Given the description of an element on the screen output the (x, y) to click on. 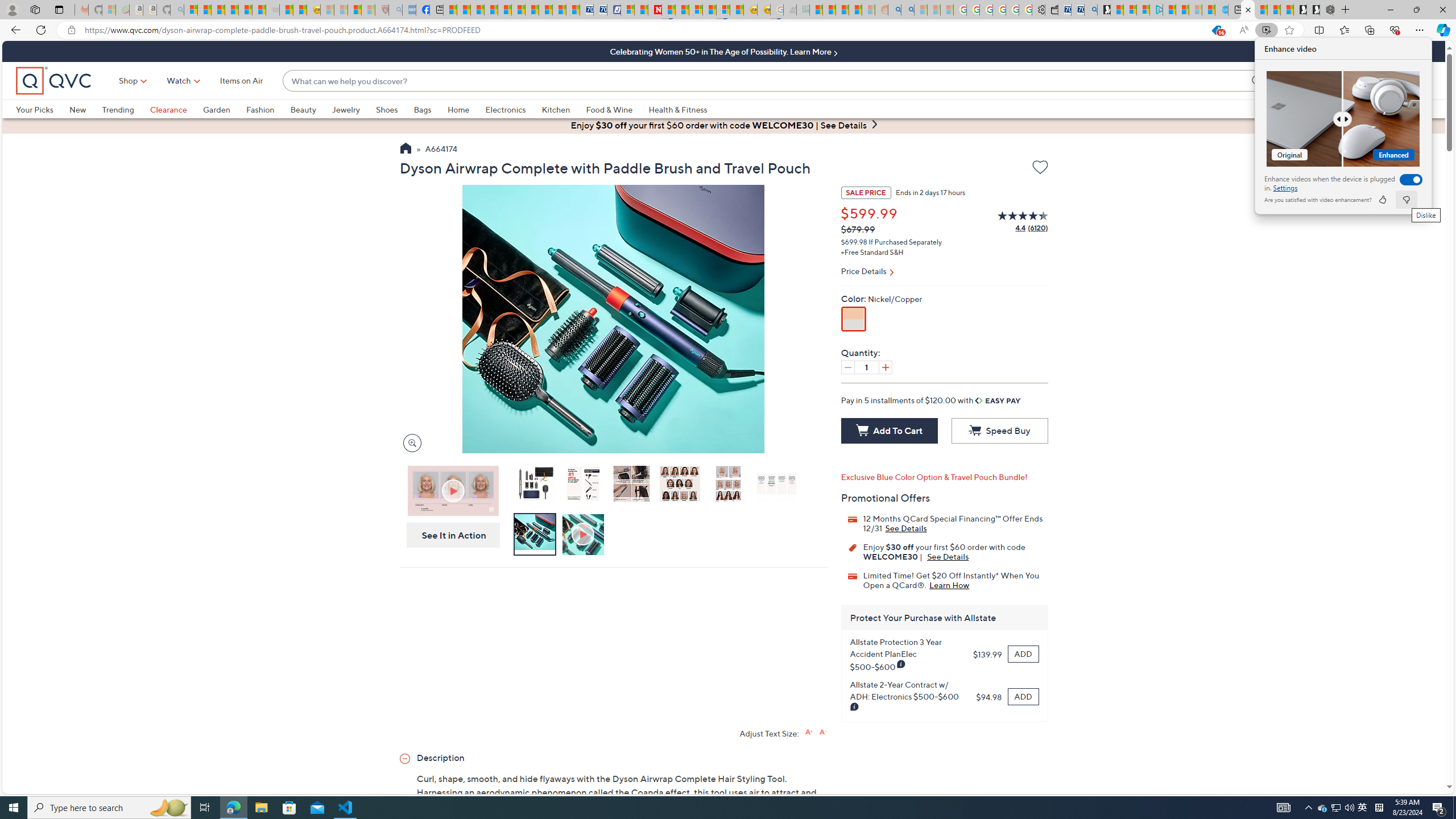
Add to Wish List (1040, 167)
Garden (216, 109)
Like (1382, 199)
QVC home (53, 80)
Items on Air (241, 80)
